Given the description of an element on the screen output the (x, y) to click on. 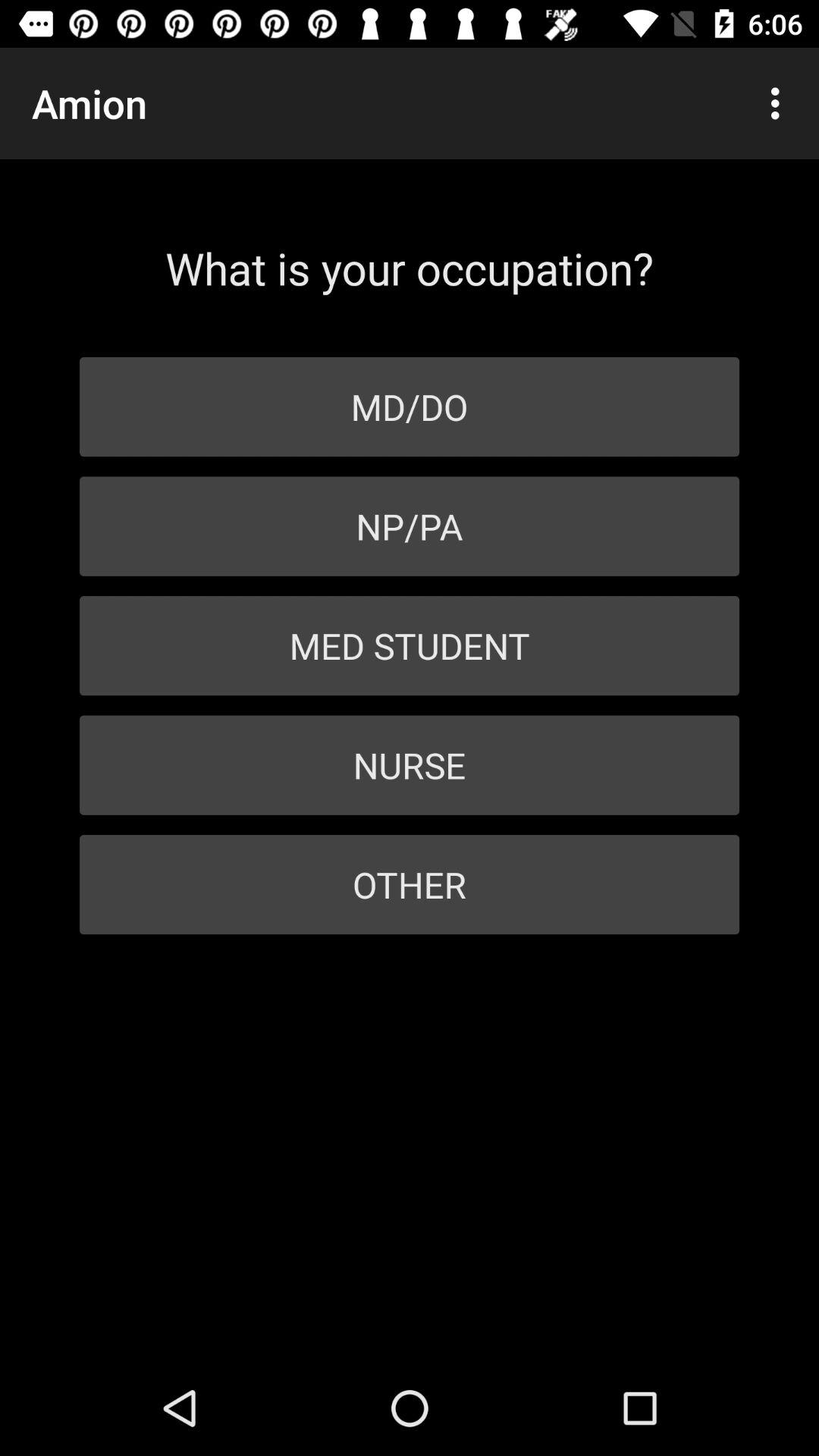
flip until other (409, 884)
